Given the description of an element on the screen output the (x, y) to click on. 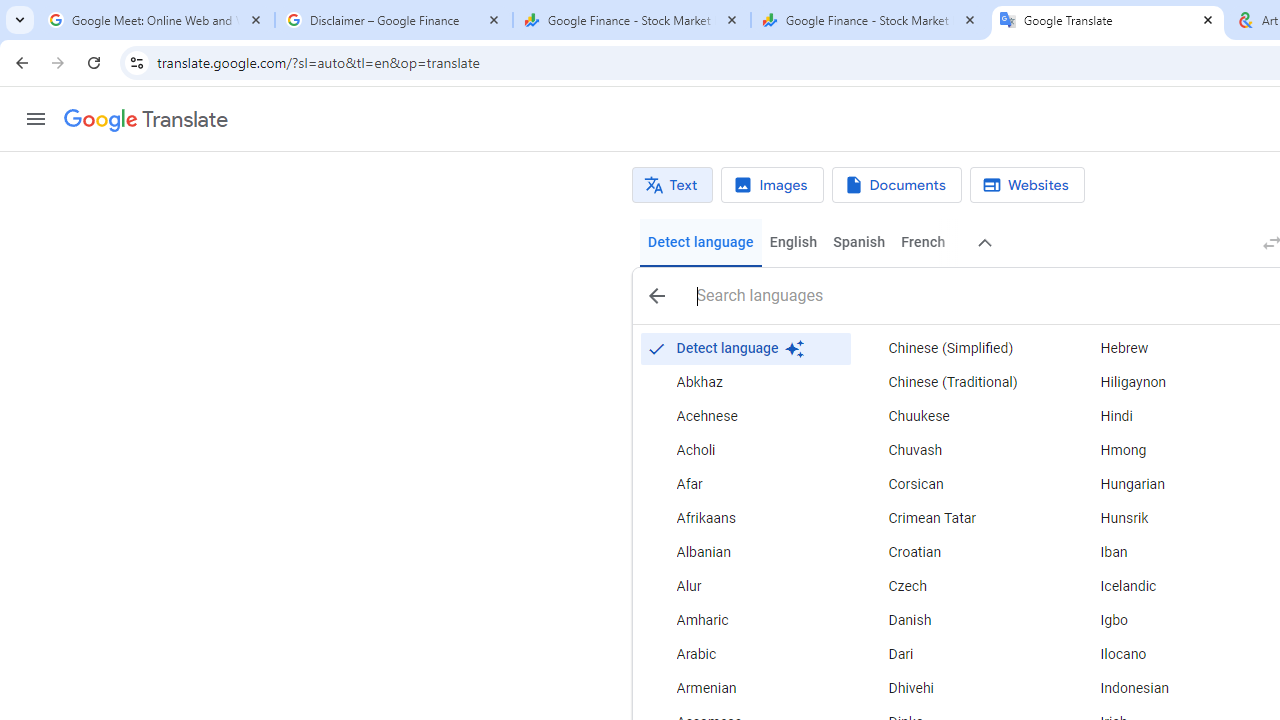
Document translation (896, 185)
Hiligaynon (1168, 382)
Acholi (745, 450)
Dhivehi (957, 688)
Amharic (745, 620)
Acehnese (745, 416)
Armenian (745, 688)
Image translation (772, 185)
Croatian (957, 552)
Detect language (745, 348)
